Given the description of an element on the screen output the (x, y) to click on. 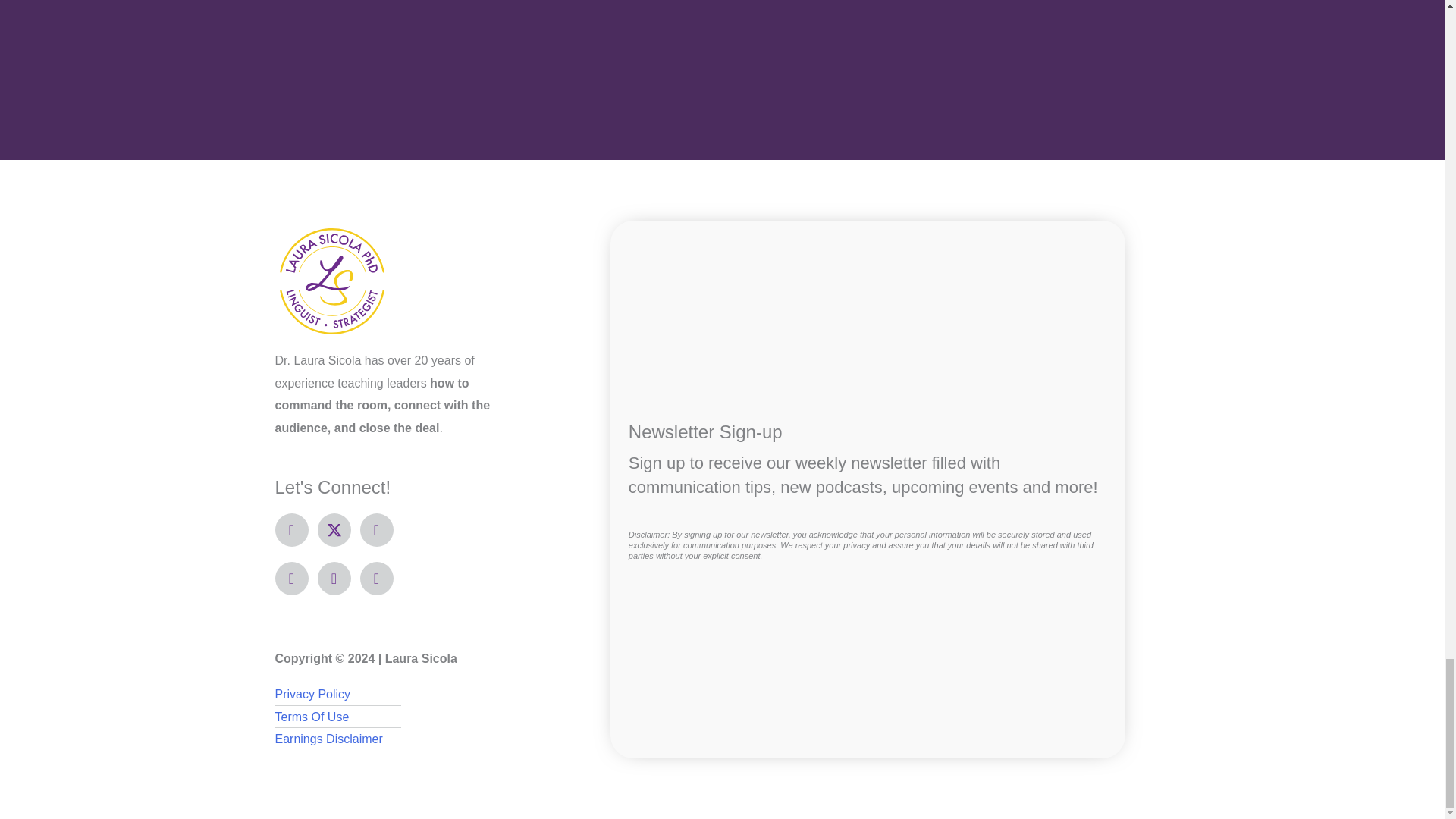
Privacy Policy (400, 694)
Facebook-f (291, 530)
Linkedin-in (333, 578)
Tiktok (376, 578)
Instagram (376, 530)
Youtube (291, 578)
Earnings Disclaimer (400, 739)
Terms Of Use (400, 716)
